Given the description of an element on the screen output the (x, y) to click on. 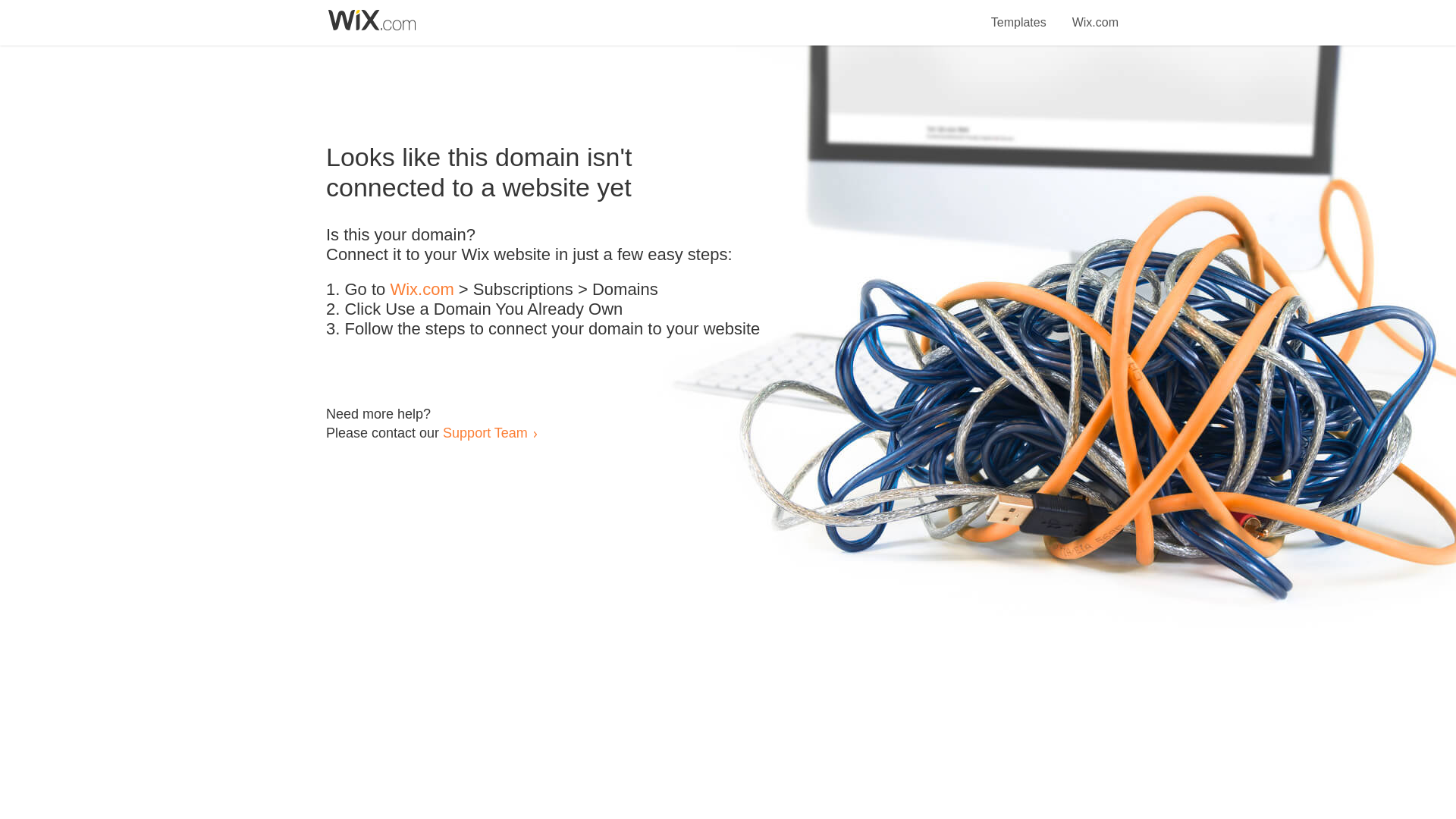
Wix.com (421, 289)
Support Team (484, 432)
Templates (1018, 14)
Wix.com (1095, 14)
